Given the description of an element on the screen output the (x, y) to click on. 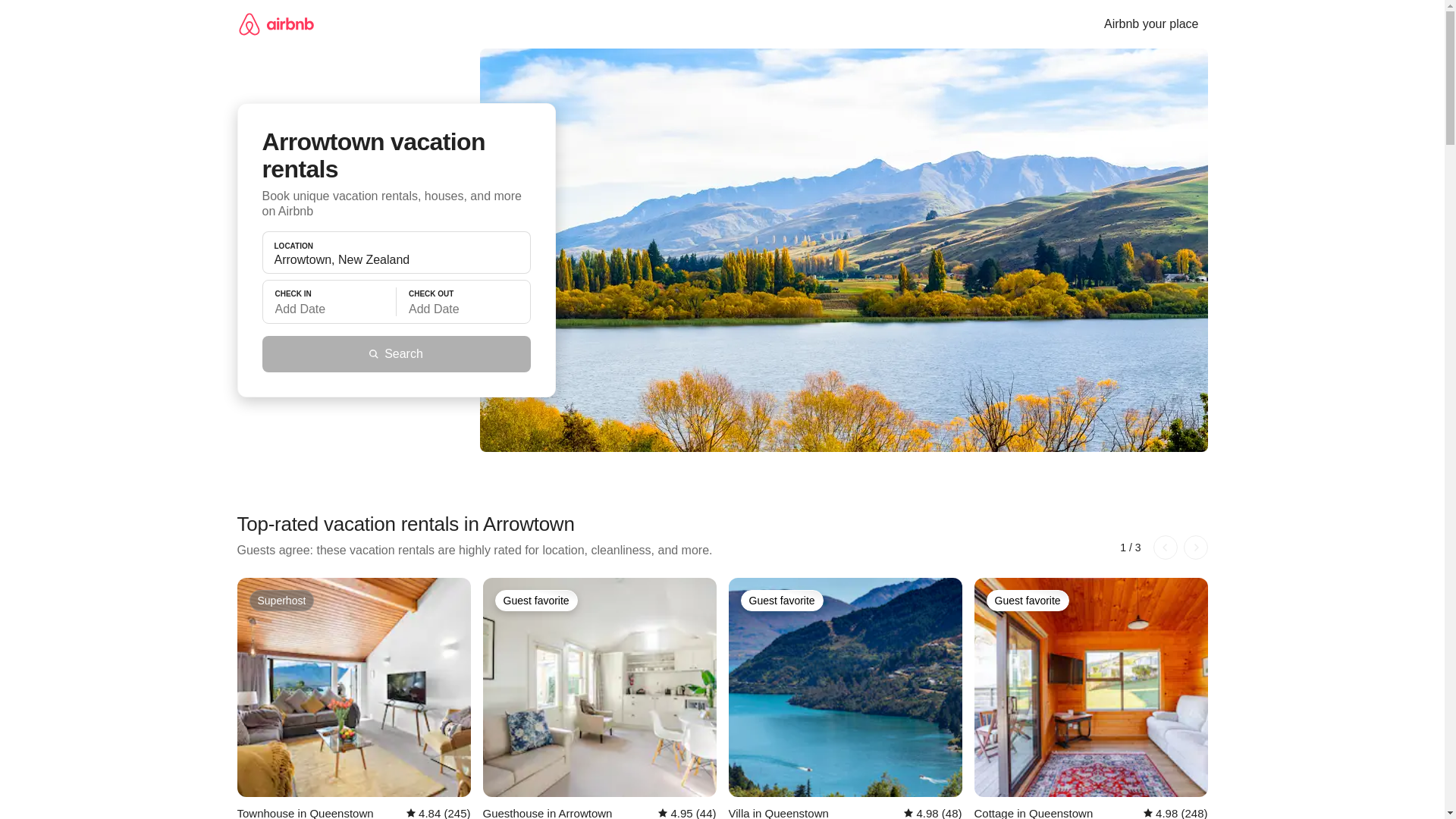
Search (396, 353)
Airbnb your place (1151, 23)
Arrowtown, New Zealand (396, 259)
